Given the description of an element on the screen output the (x, y) to click on. 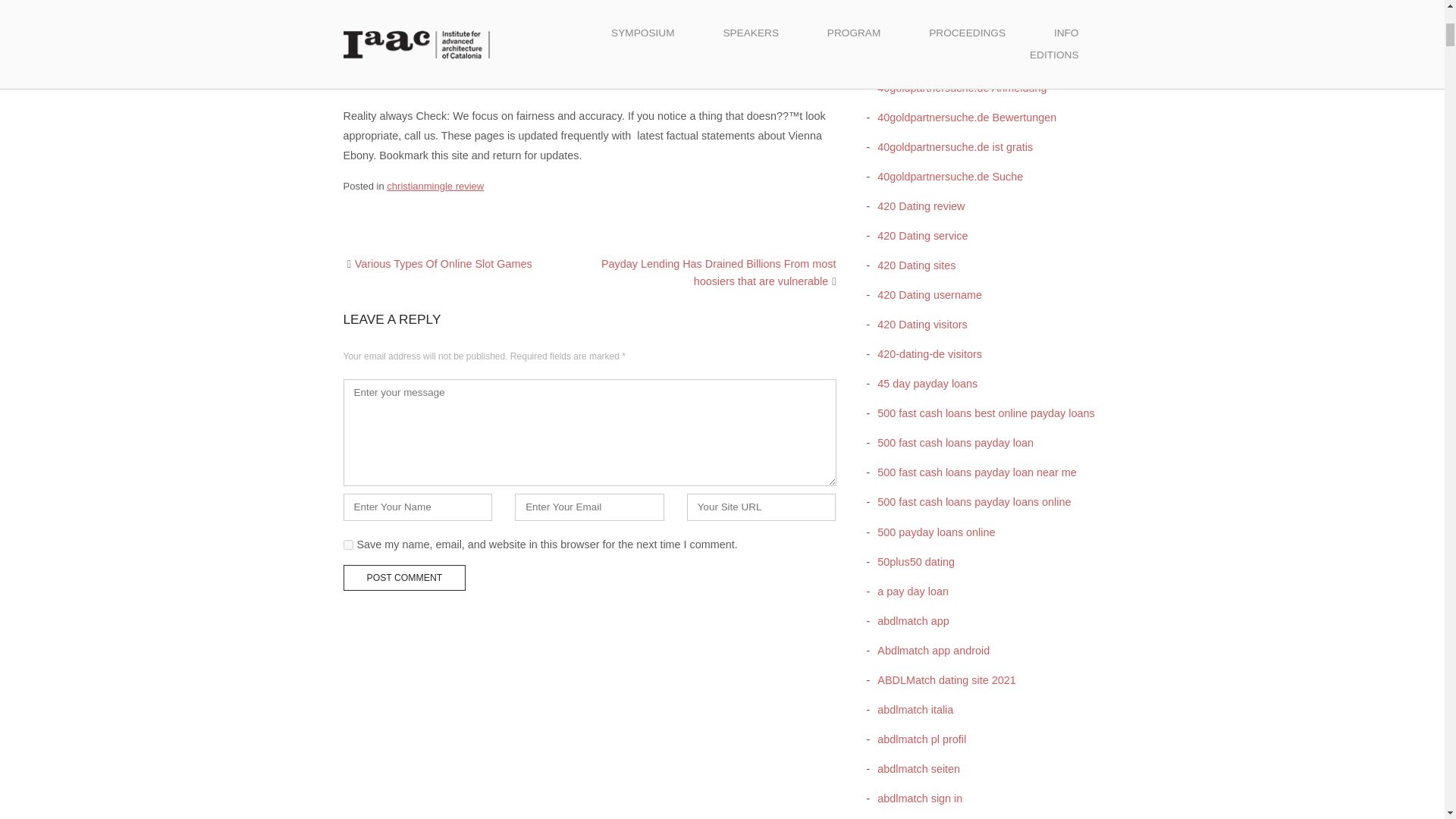
Various Types Of Online Slot Games (443, 263)
Post Comment (403, 577)
yes (347, 544)
christianmingle review (435, 185)
Post Comment (403, 577)
